Given the description of an element on the screen output the (x, y) to click on. 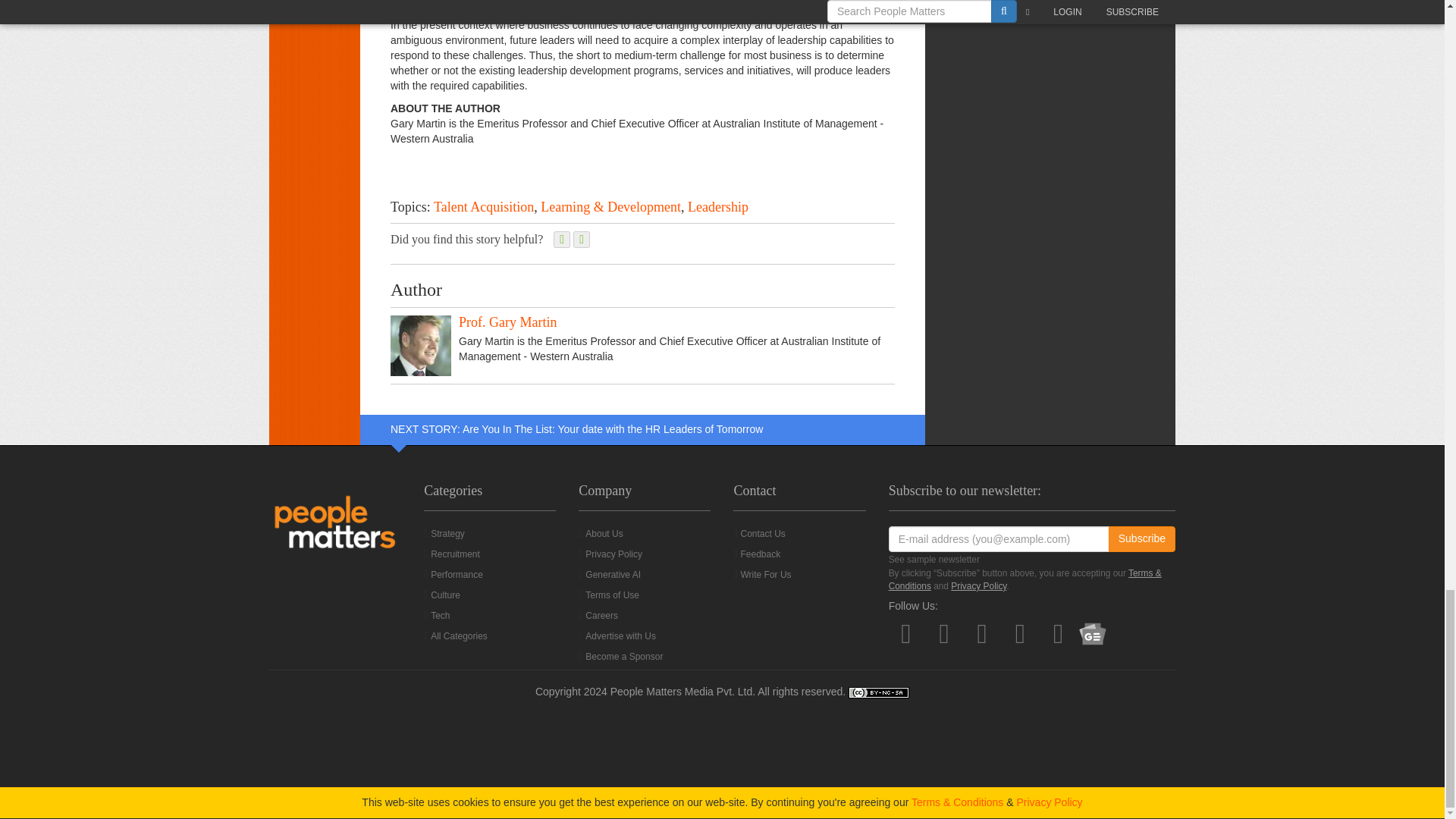
Talent Acquisition (483, 206)
Browse more in: Talent Acquisition (483, 206)
